Given the description of an element on the screen output the (x, y) to click on. 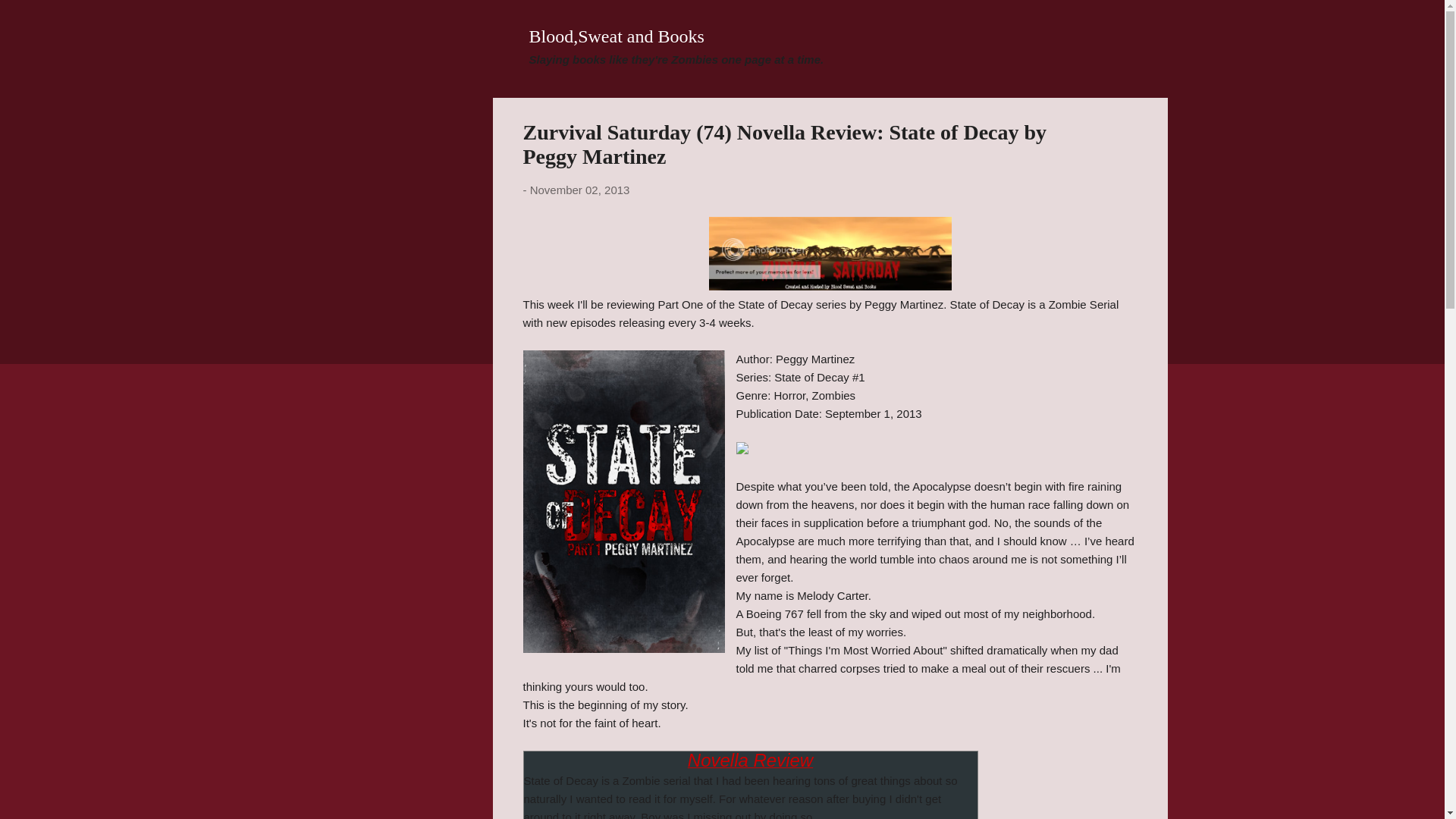
Blood,Sweat and Books (616, 35)
Search (29, 18)
permanent link (579, 189)
November 02, 2013 (579, 189)
